Given the description of an element on the screen output the (x, y) to click on. 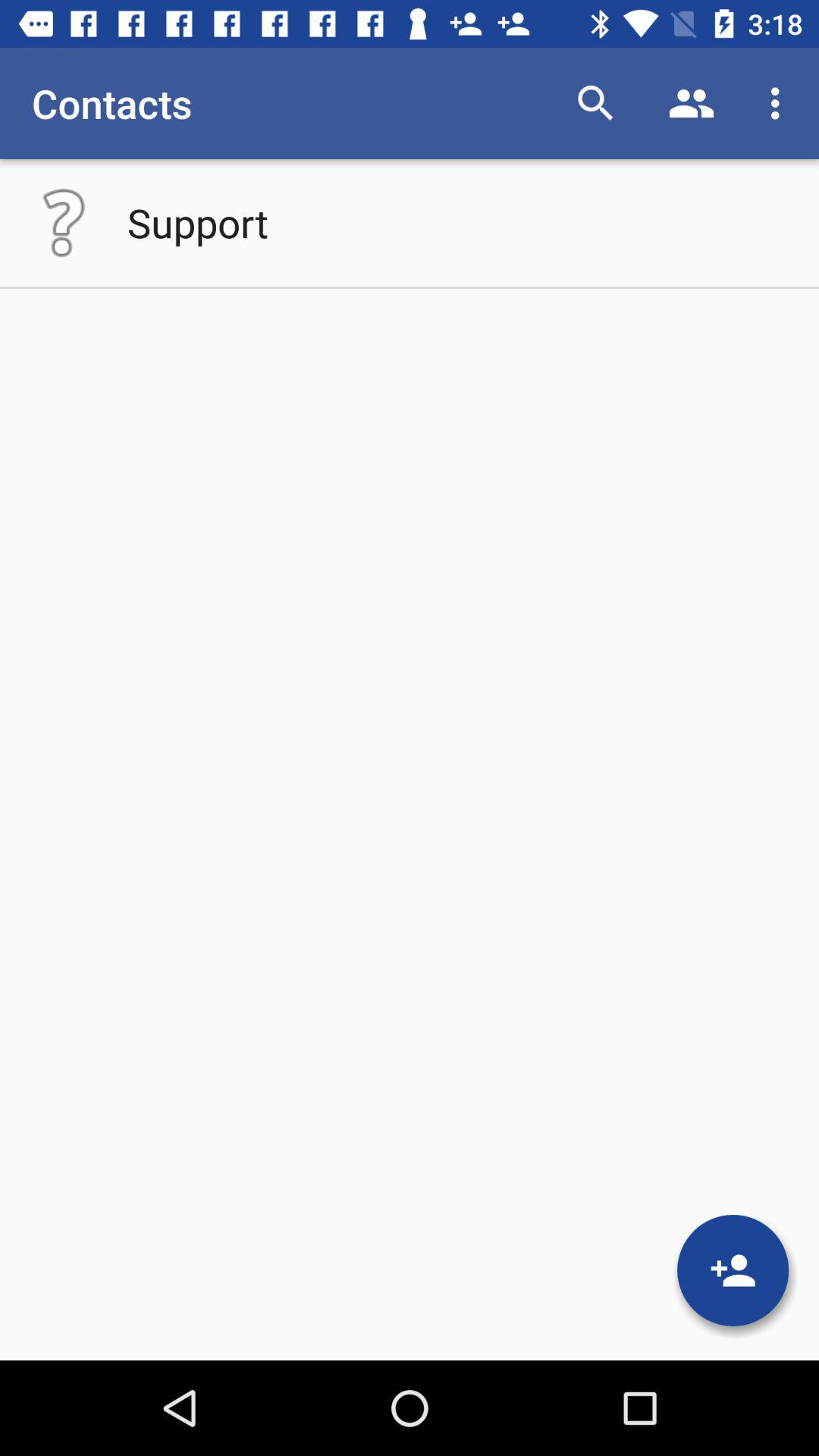
tap the app below the contacts app (197, 222)
